Given the description of an element on the screen output the (x, y) to click on. 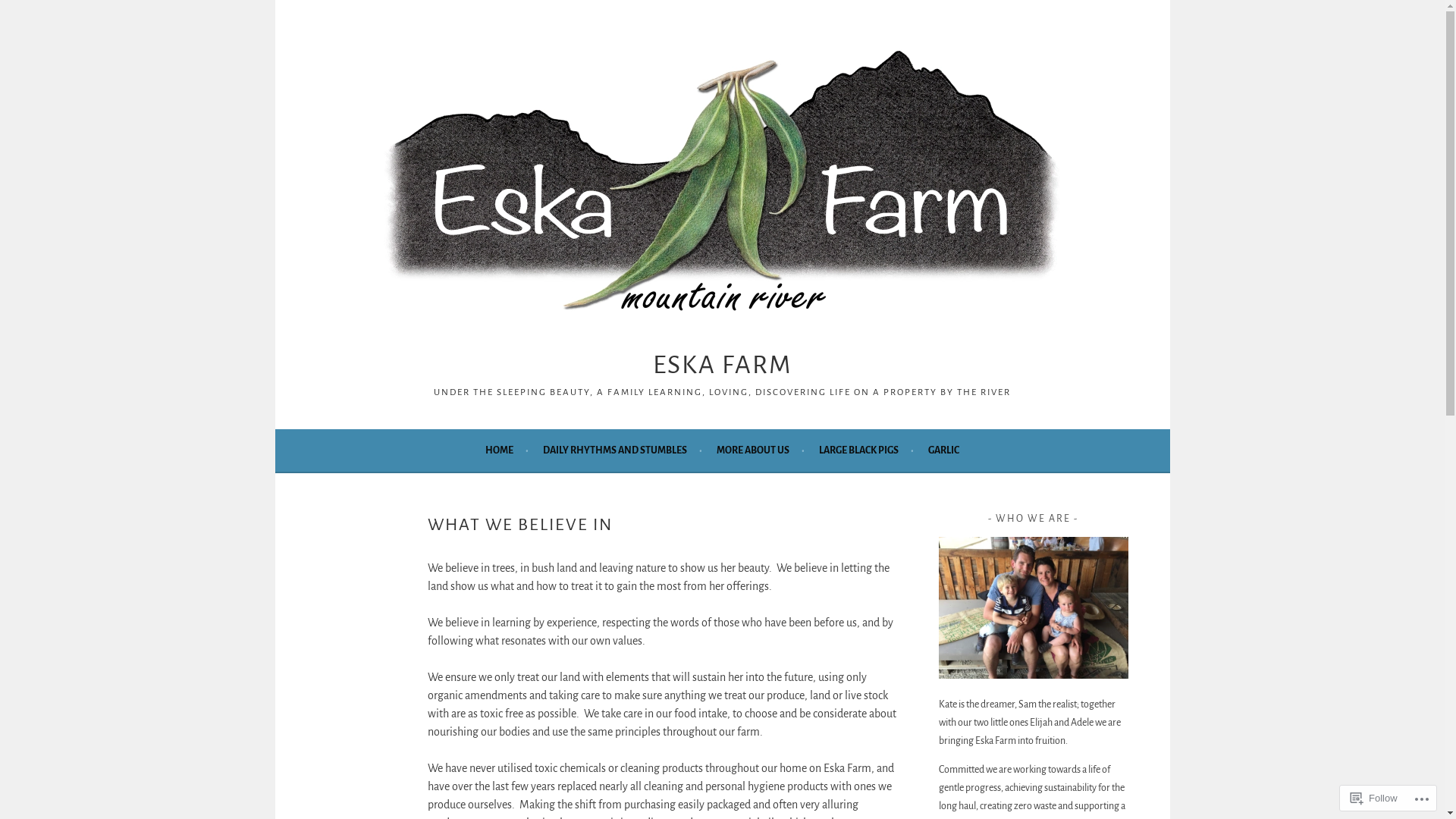
DAILY RHYTHMS AND STUMBLES Element type: text (622, 450)
HOME Element type: text (506, 450)
Follow Element type: text (1373, 797)
MORE ABOUT US Element type: text (760, 450)
LARGE BLACK PIGS Element type: text (866, 450)
GARLIC Element type: text (943, 450)
ESKA FARM Element type: text (721, 364)
